Given the description of an element on the screen output the (x, y) to click on. 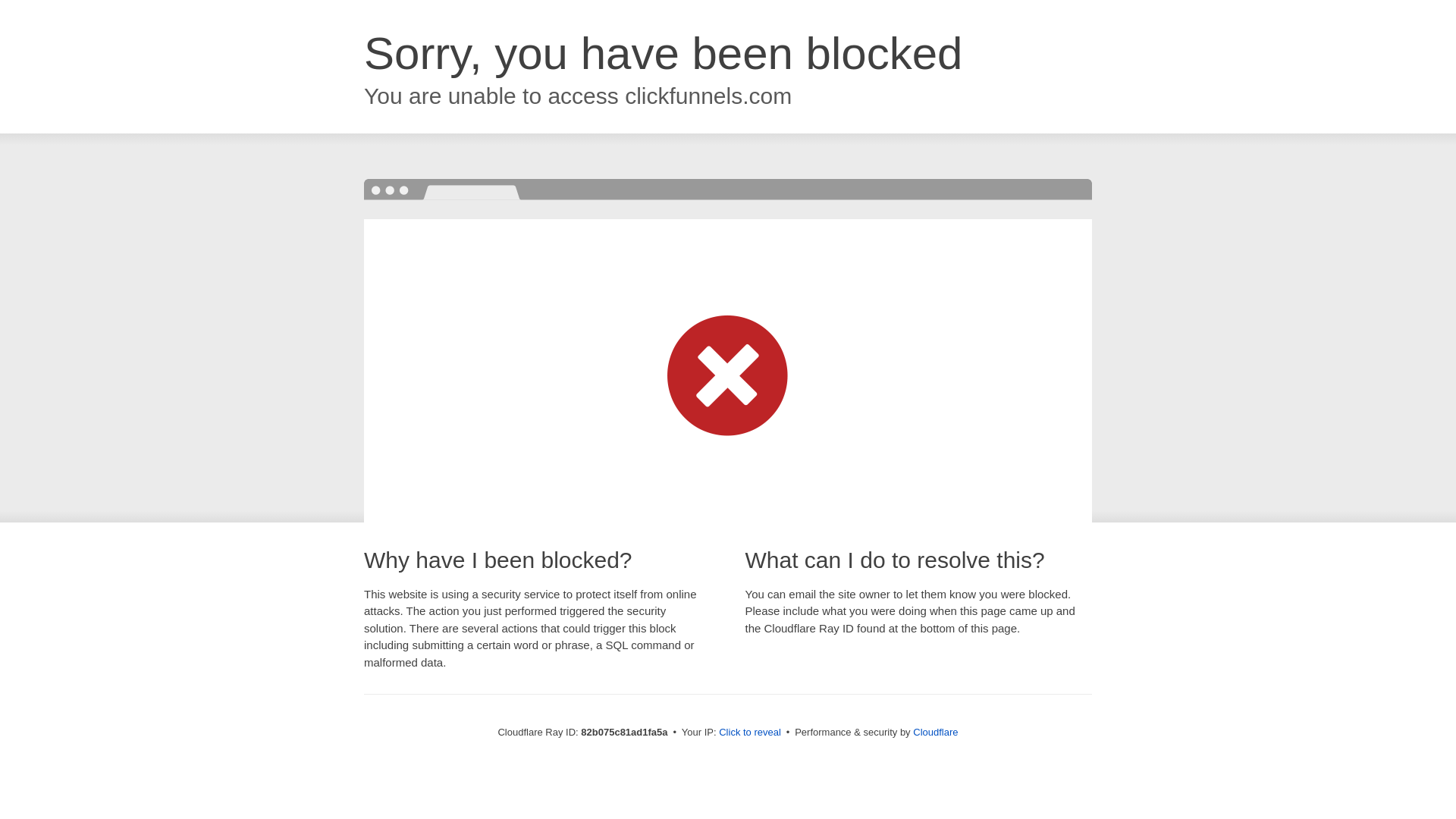
Cloudflare Element type: text (935, 731)
Click to reveal Element type: text (749, 732)
